Given the description of an element on the screen output the (x, y) to click on. 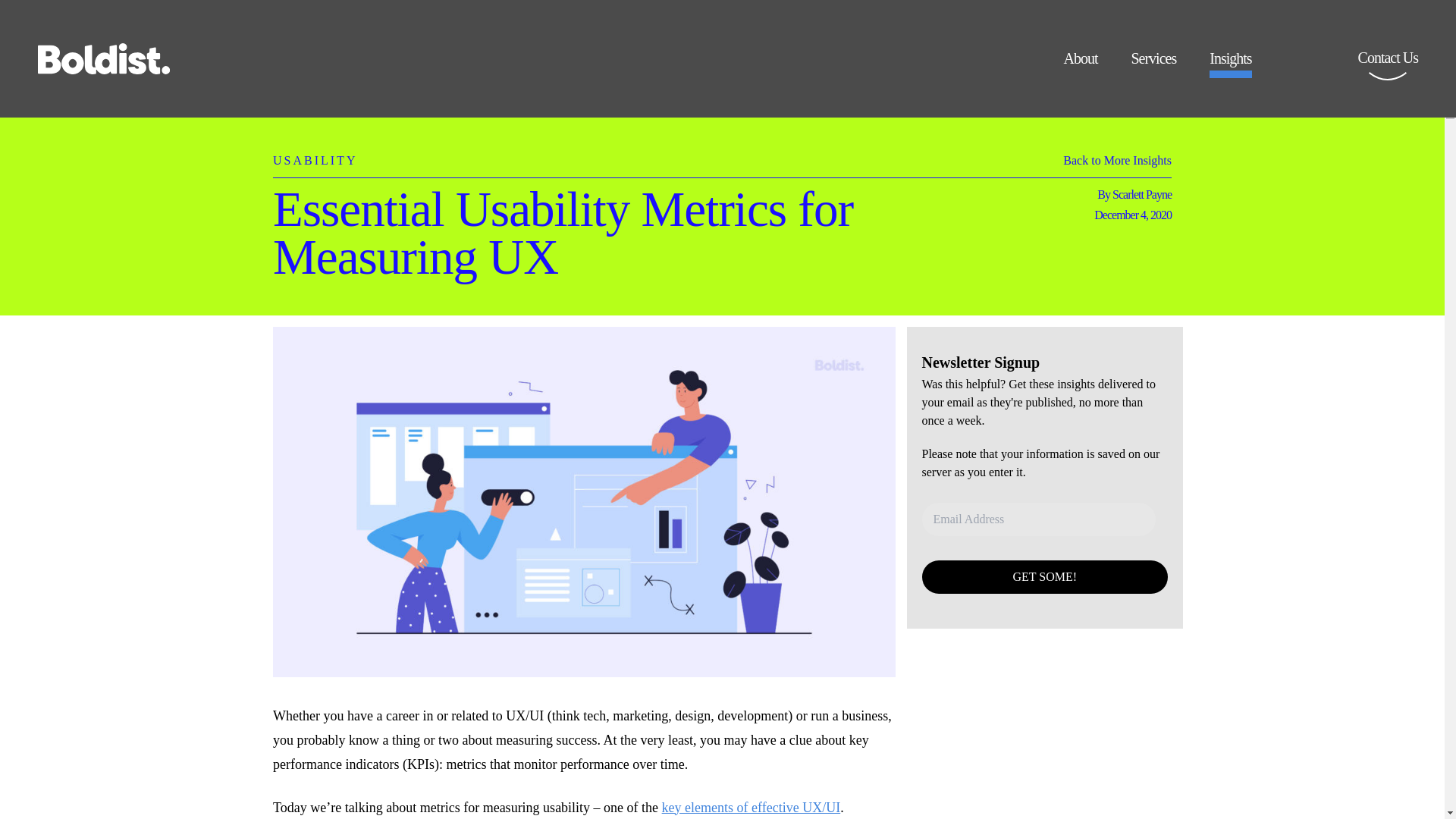
Posts by Scarlett Payne (1142, 194)
USABILITY (314, 152)
Contact Us (1388, 68)
GET SOME! (1045, 576)
Insights (1229, 63)
GET SOME! (1045, 576)
Services (1153, 63)
About (1079, 63)
Back to More Insights (1117, 164)
Scarlett Payne (1142, 194)
